Given the description of an element on the screen output the (x, y) to click on. 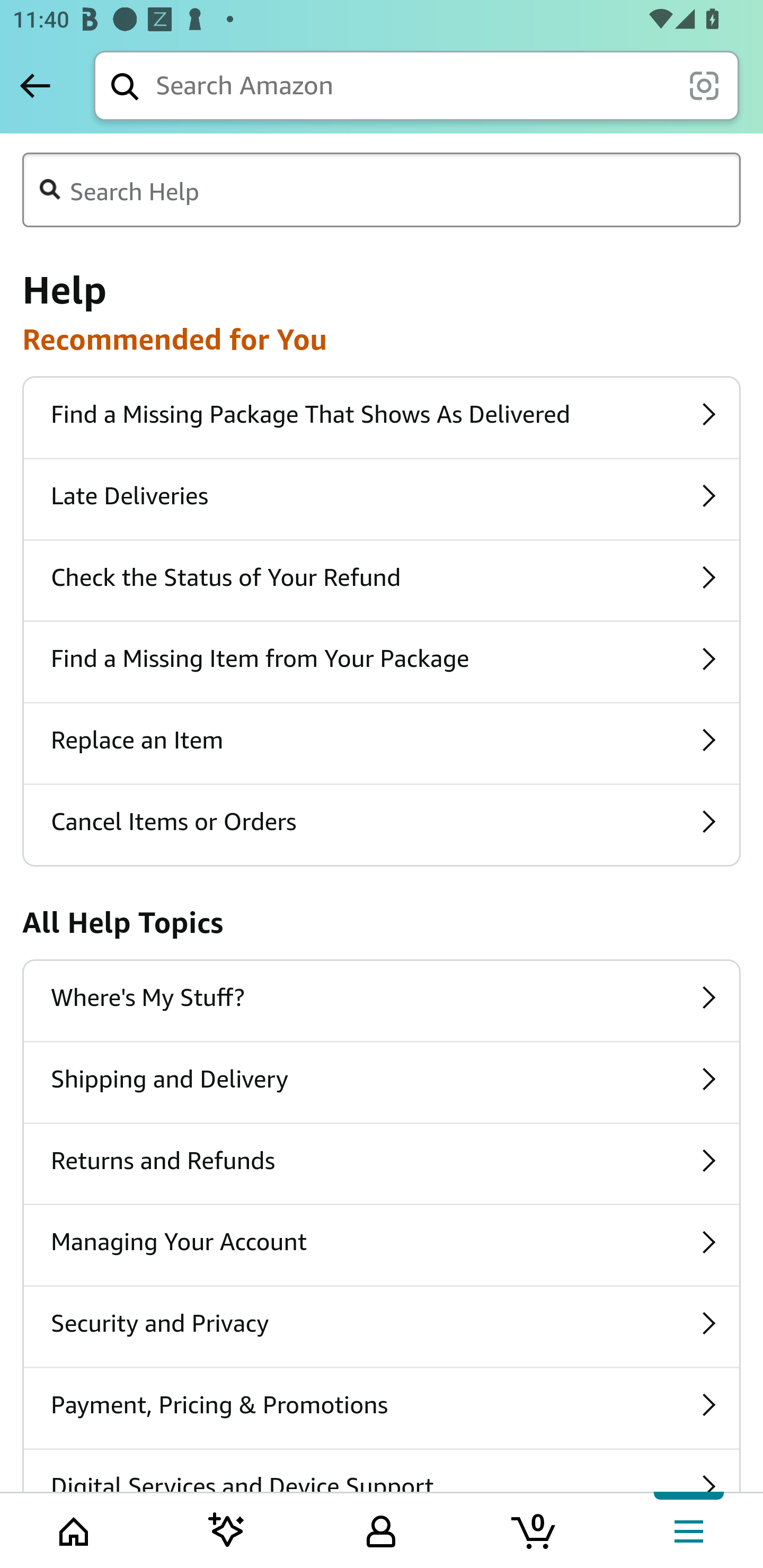
Back (35, 85)
Search Search Search Amazon scan it (416, 85)
scan it (704, 85)
Find a Missing Package That Shows As Delivered (381, 416)
Late Deliveries (381, 498)
Check the Status of Your Refund (381, 580)
Find a Missing Item from Your Package (381, 661)
Replace an Item (381, 743)
Cancel Items or Orders (381, 824)
Where's My Stuff? (381, 1000)
Shipping and Delivery (381, 1082)
Returns and Refunds (381, 1164)
Managing Your Account (381, 1244)
Security and Privacy (381, 1326)
Payment, Pricing & Promotions (381, 1407)
Home Tab 1 of 5 (75, 1529)
Inspire feed Tab 2 of 5 (227, 1529)
Your Amazon.com Tab 3 of 5 (380, 1529)
Cart 0 item Tab 4 of 5 0 (534, 1529)
Browse menu Tab 5 of 5 (687, 1529)
